Given the description of an element on the screen output the (x, y) to click on. 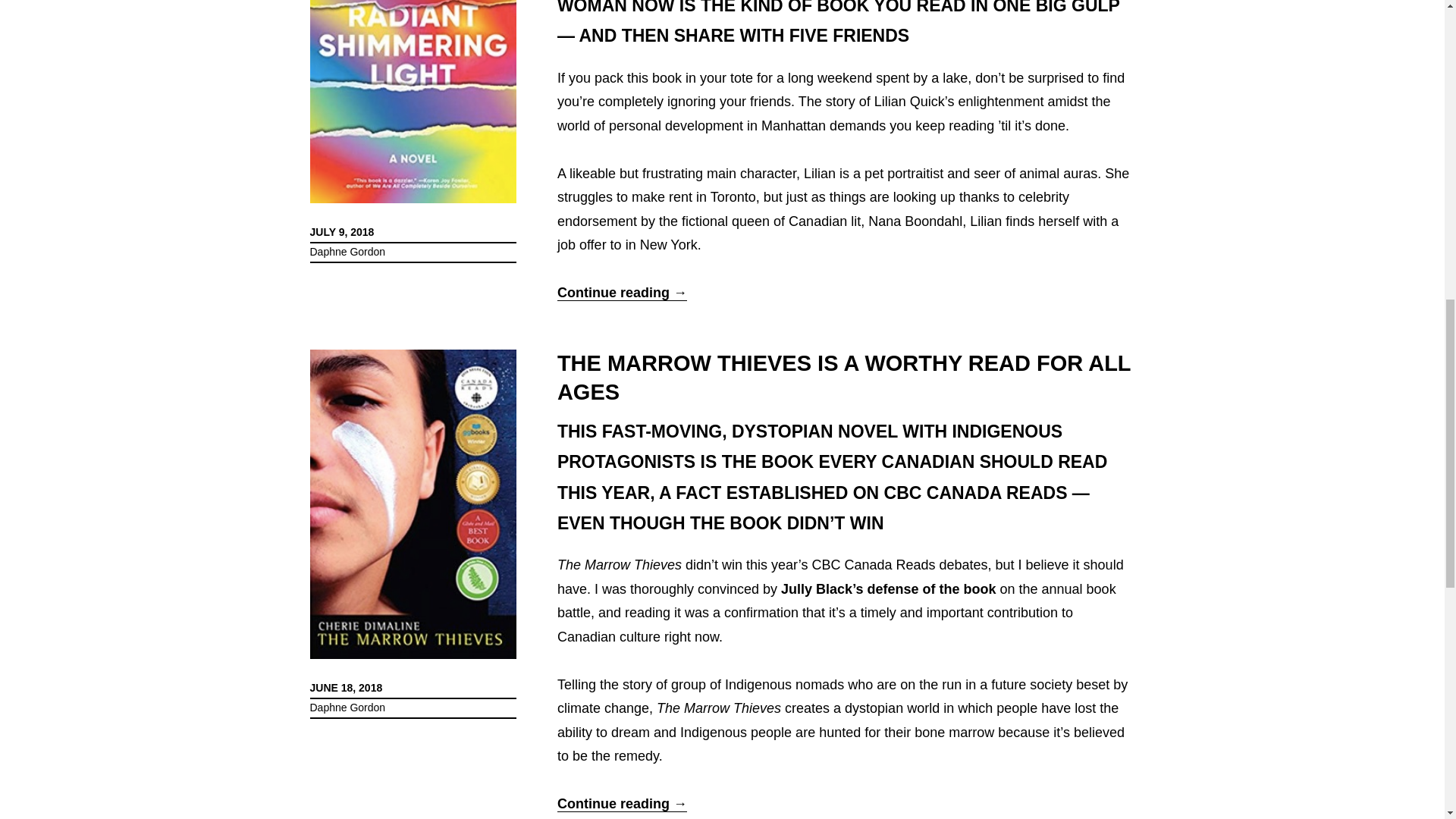
Daphne Gordon (346, 707)
THE MARROW THIEVES IS A WORTHY READ FOR ALL AGES (844, 377)
JULY 9, 2018 (341, 232)
JUNE 18, 2018 (344, 687)
Daphne Gordon (346, 251)
